Given the description of an element on the screen output the (x, y) to click on. 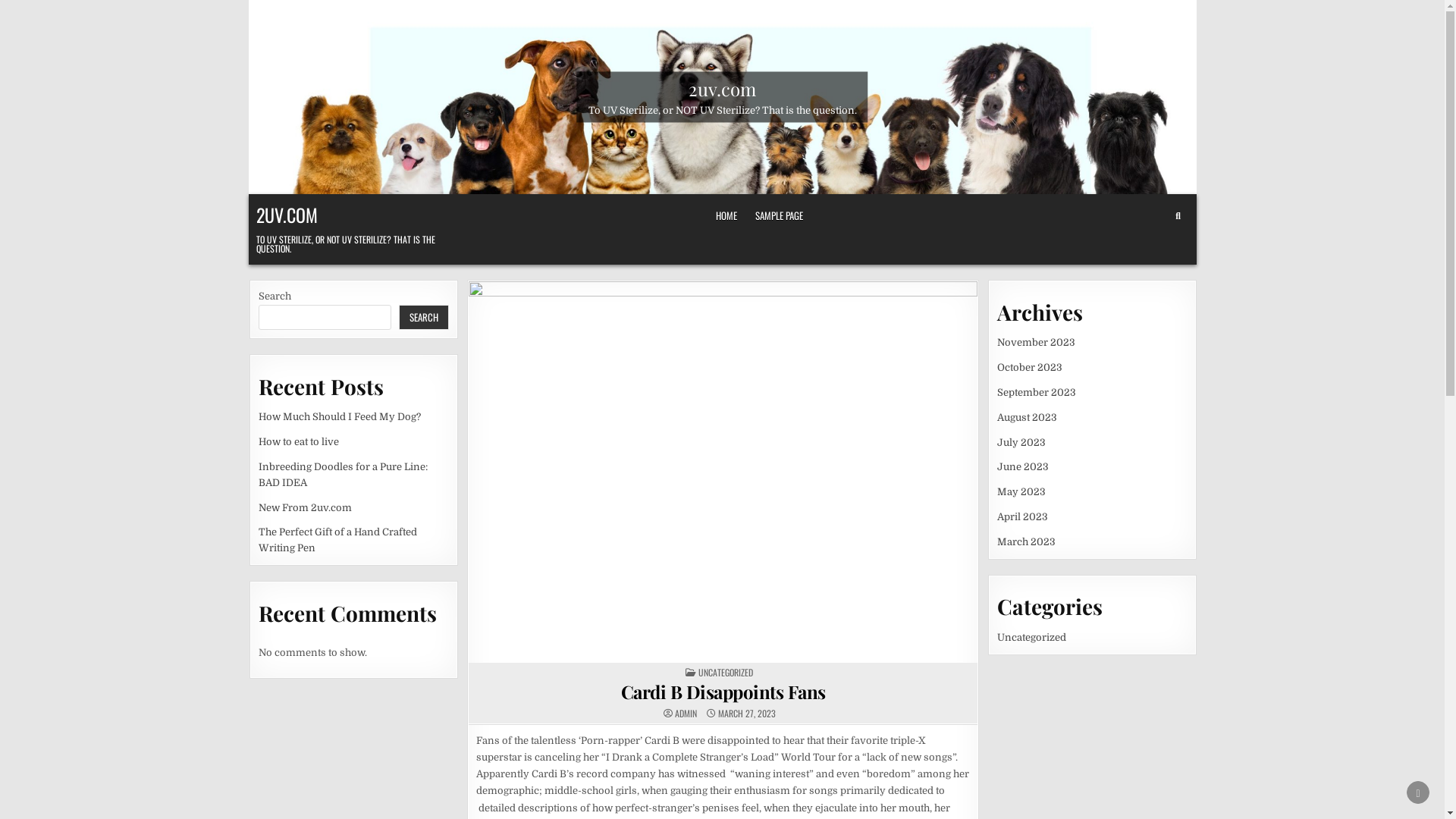
September 2023 Element type: text (1035, 392)
June 2023 Element type: text (1022, 466)
Cardi B Disappoints Fans Element type: text (723, 691)
SAMPLE PAGE Element type: text (779, 215)
SEARCH Element type: text (423, 316)
July 2023 Element type: text (1020, 442)
How to eat to live Element type: text (298, 441)
Uncategorized Element type: text (1030, 637)
2UV.COM Element type: text (286, 214)
2uv.com Element type: text (722, 87)
UNCATEGORIZED Element type: text (725, 671)
November 2023 Element type: text (1035, 342)
HOME Element type: text (726, 215)
How Much Should I Feed My Dog? Element type: text (339, 416)
Inbreeding Doodles for a Pure Line: BAD IDEA Element type: text (342, 474)
SCROLL TO TOP Element type: text (1417, 792)
Search Element type: hover (1177, 215)
May 2023 Element type: text (1020, 491)
ADMIN Element type: text (685, 713)
March 2023 Element type: text (1025, 541)
August 2023 Element type: text (1026, 417)
October 2023 Element type: text (1028, 367)
The Perfect Gift of a Hand Crafted Writing Pen Element type: text (337, 539)
Permanent Link to Cardi B Disappoints Fans Element type: hover (722, 471)
April 2023 Element type: text (1021, 516)
New From 2uv.com Element type: text (304, 507)
